Given the description of an element on the screen output the (x, y) to click on. 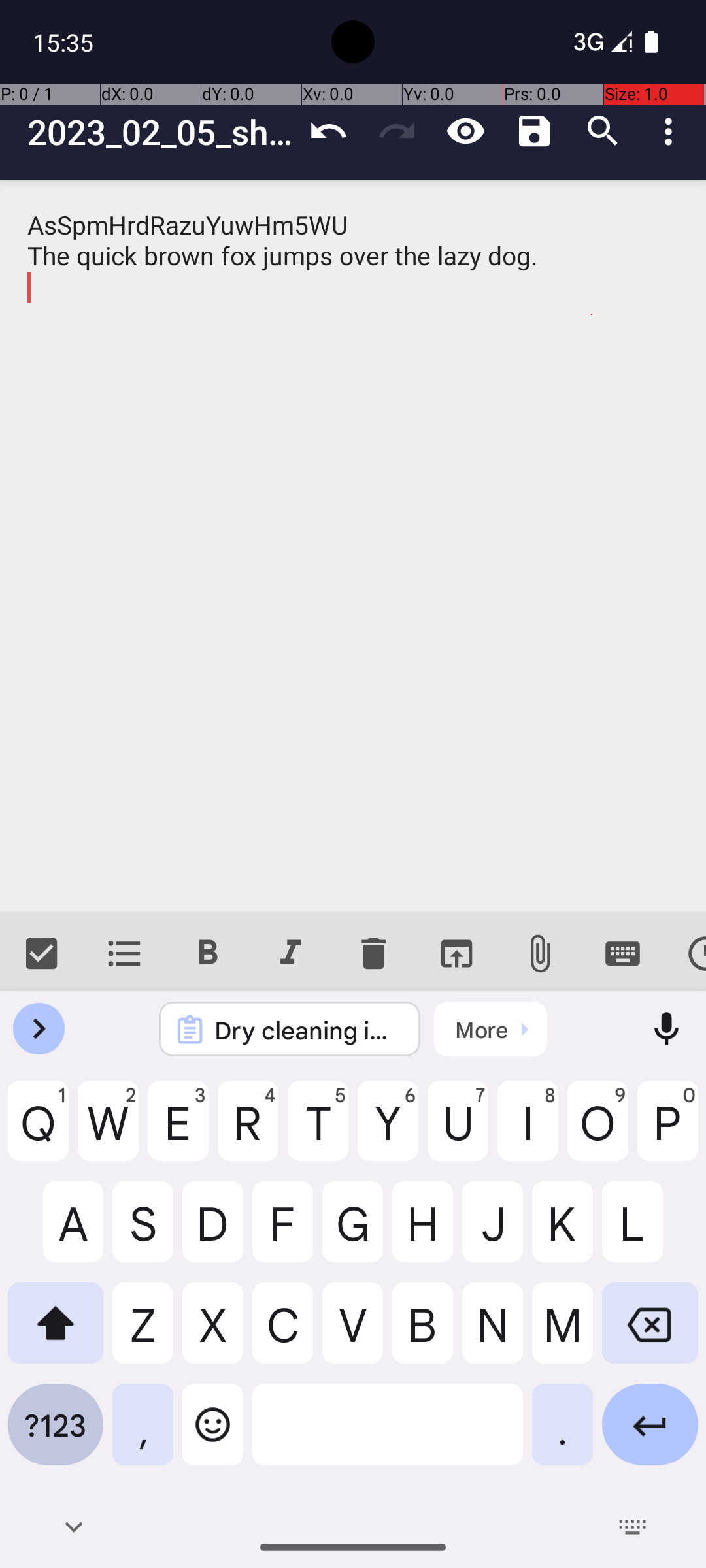
2023_02_05_shy_ocean_2023_02_21 Element type: android.widget.TextView (160, 131)
AsSpmHrdRazuYuwHm5WU
The quick brown fox jumps over the lazy dog.
 Element type: android.widget.EditText (353, 545)
Dry cleaning is ready for pick-up. Element type: android.widget.TextView (306, 1029)
